Given the description of an element on the screen output the (x, y) to click on. 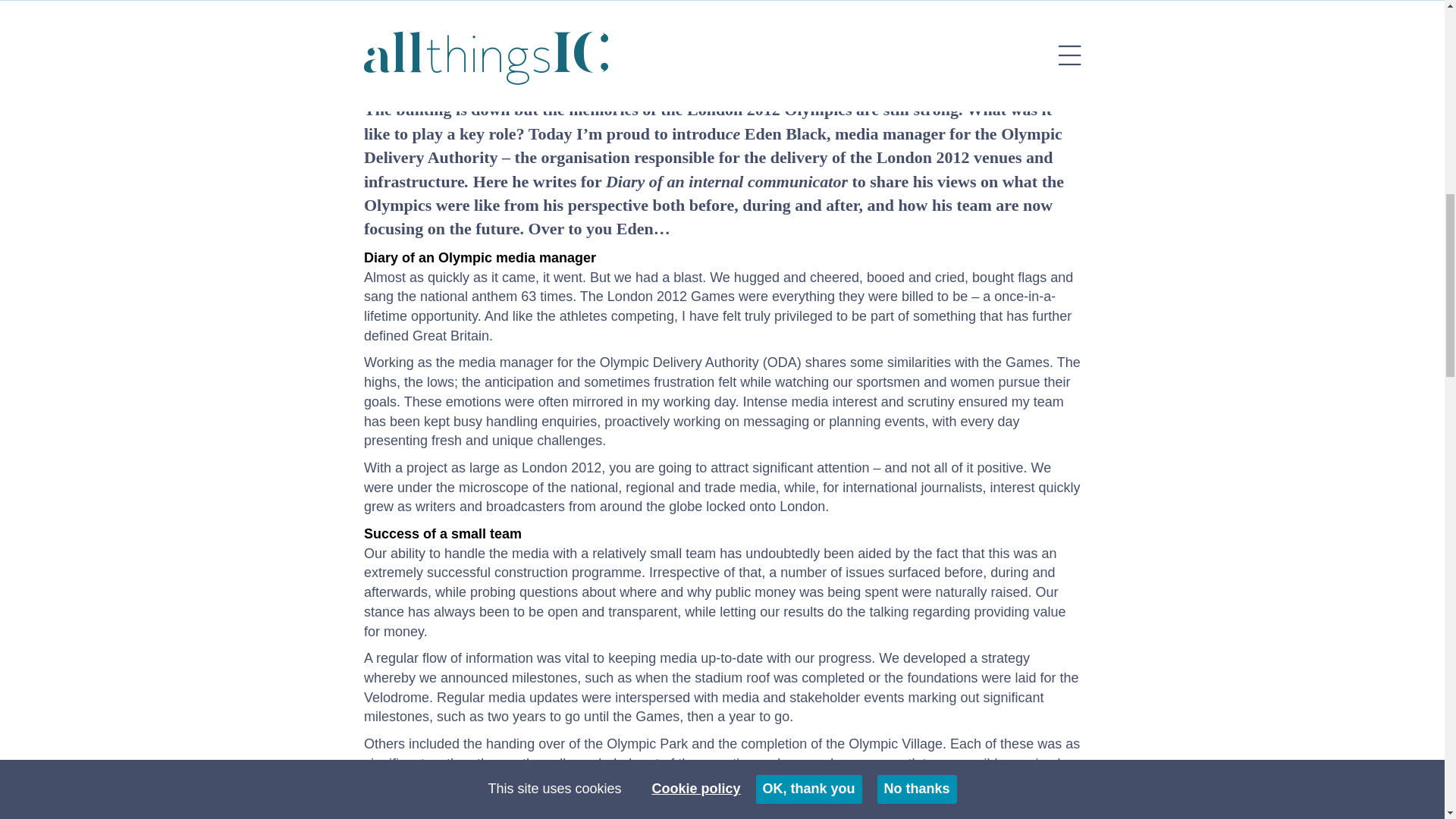
ODA (713, 145)
